Given the description of an element on the screen output the (x, y) to click on. 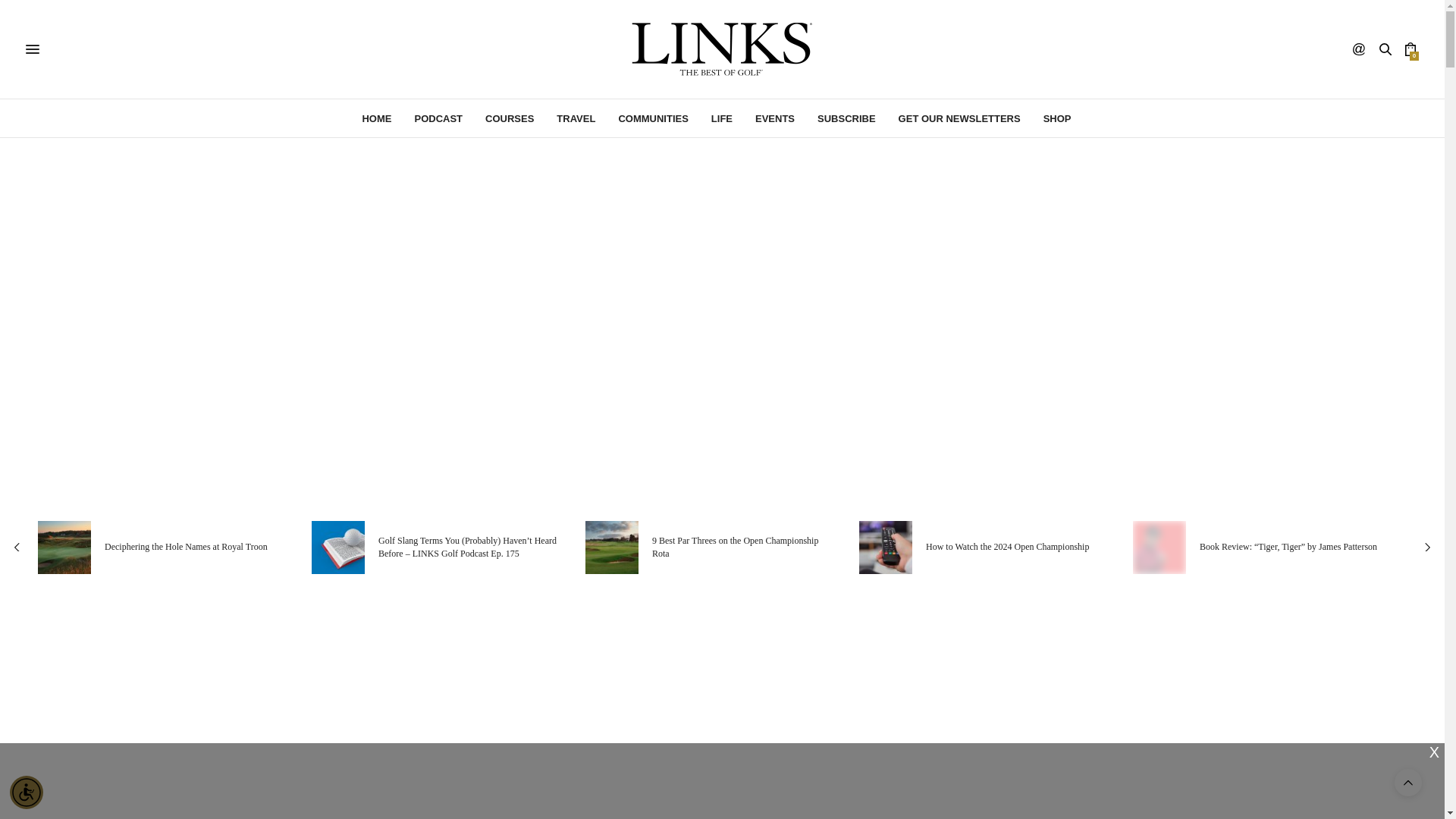
SHOP (1057, 118)
SUBSCRIBE (846, 118)
HOME (376, 118)
0 (1410, 48)
GET OUR NEWSLETTERS (959, 118)
Accessibility Menu (26, 792)
TRAVEL (575, 118)
COMMUNITIES (652, 118)
PODCAST (438, 118)
EVENTS (774, 118)
COURSES (509, 118)
LIFE (721, 118)
